Given the description of an element on the screen output the (x, y) to click on. 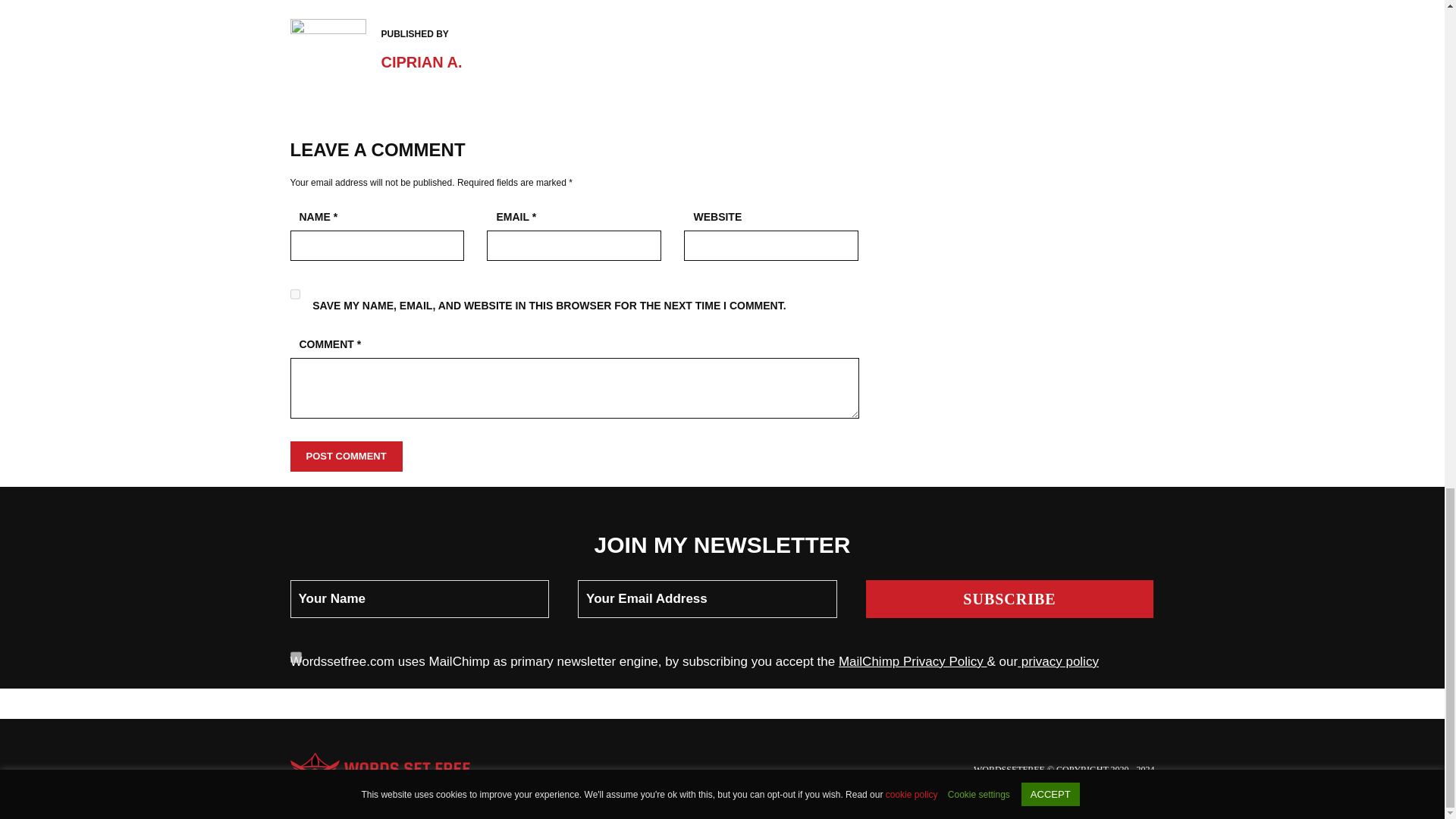
Post Comment (345, 456)
Subscribe (1010, 598)
yes (294, 294)
CIPRIAN A. (420, 62)
1 (295, 657)
Post Comment (345, 456)
